Given the description of an element on the screen output the (x, y) to click on. 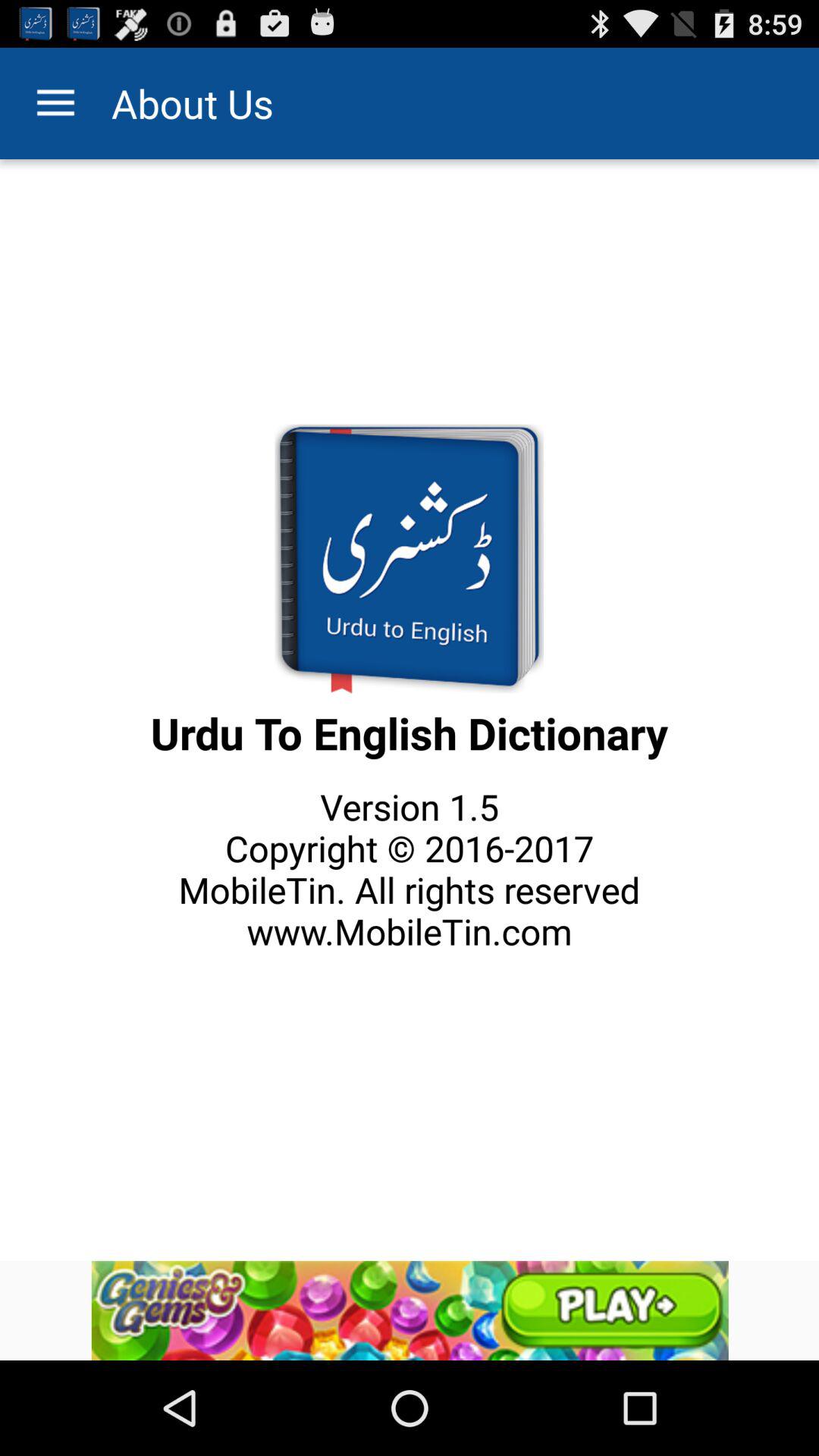
advertisement (409, 1310)
